Given the description of an element on the screen output the (x, y) to click on. 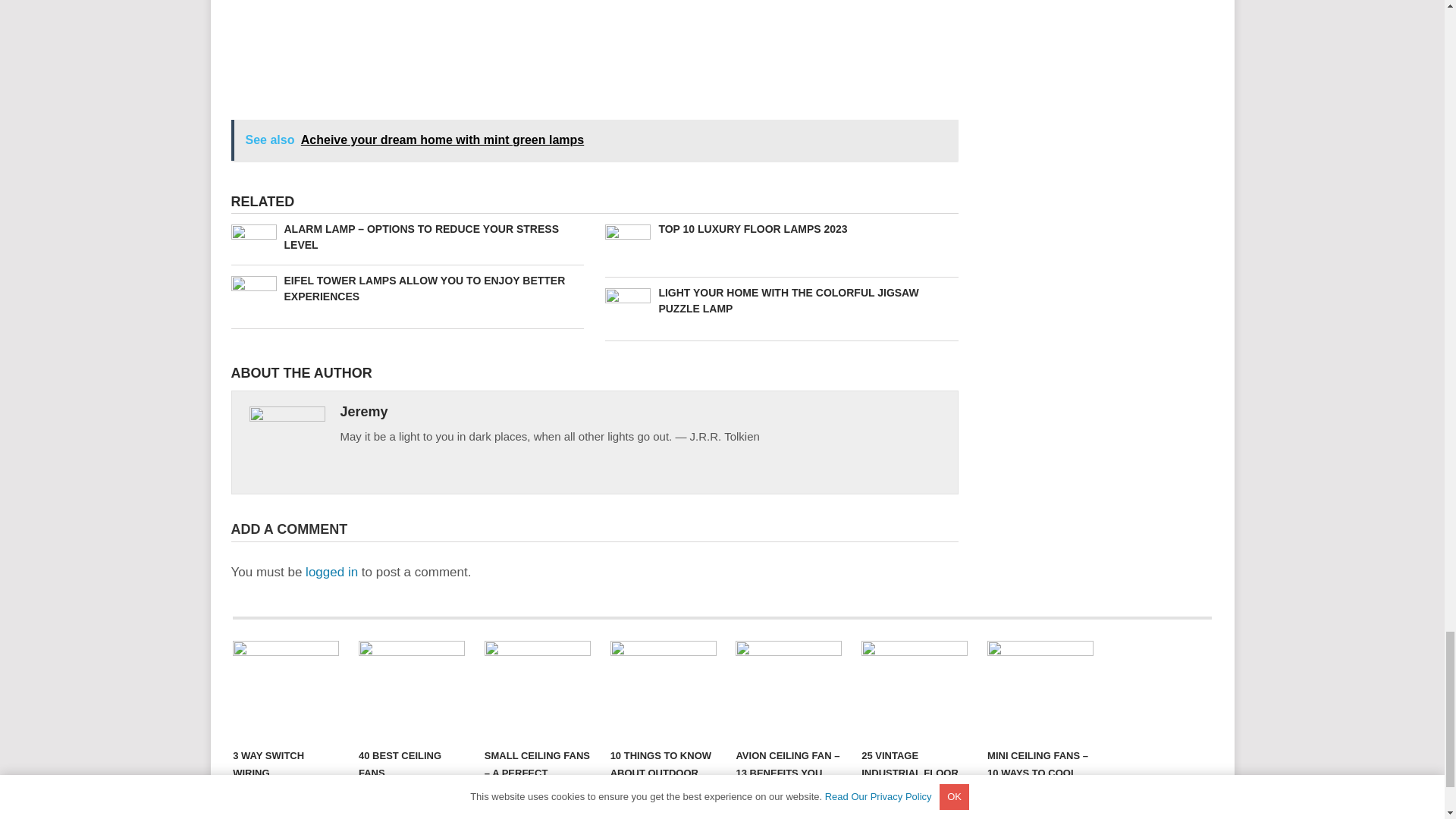
TOP 10 LUXURY FLOOR LAMPS 2023 (781, 229)
logged in (331, 572)
TOP 10 Luxury floor lamps 2023 (781, 229)
10 THINGS TO KNOW ABOUT OUTDOOR GAZEBO LIGHTS (663, 689)
3 way switch wiring (285, 689)
Eifel tower lamps allow you to enjoy better experiences (406, 288)
40 BEST CEILING FANS (411, 689)
Light your home with the colorful Jigsaw puzzle lamp (781, 300)
3 WAY SWITCH WIRING (285, 689)
40 Best Ceiling Fans (411, 689)
